Given the description of an element on the screen output the (x, y) to click on. 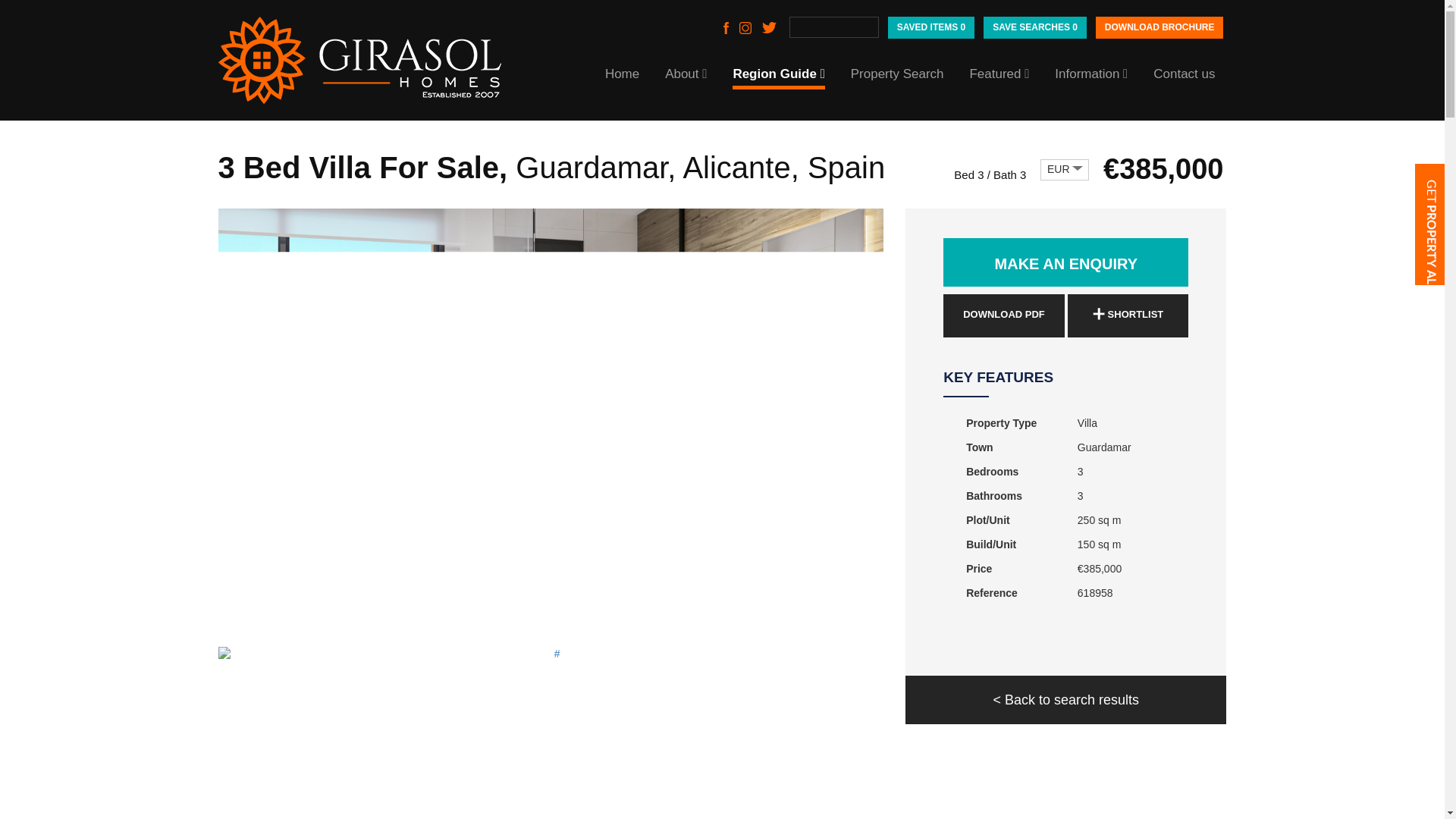
Home (622, 73)
Property Search (896, 73)
Featured (999, 73)
Region Guide (778, 73)
SAVE SEARCHES 0 (1035, 27)
About (685, 73)
DOWNLOAD BROCHURE (1160, 27)
SAVED ITEMS 0 (931, 27)
